Given the description of an element on the screen output the (x, y) to click on. 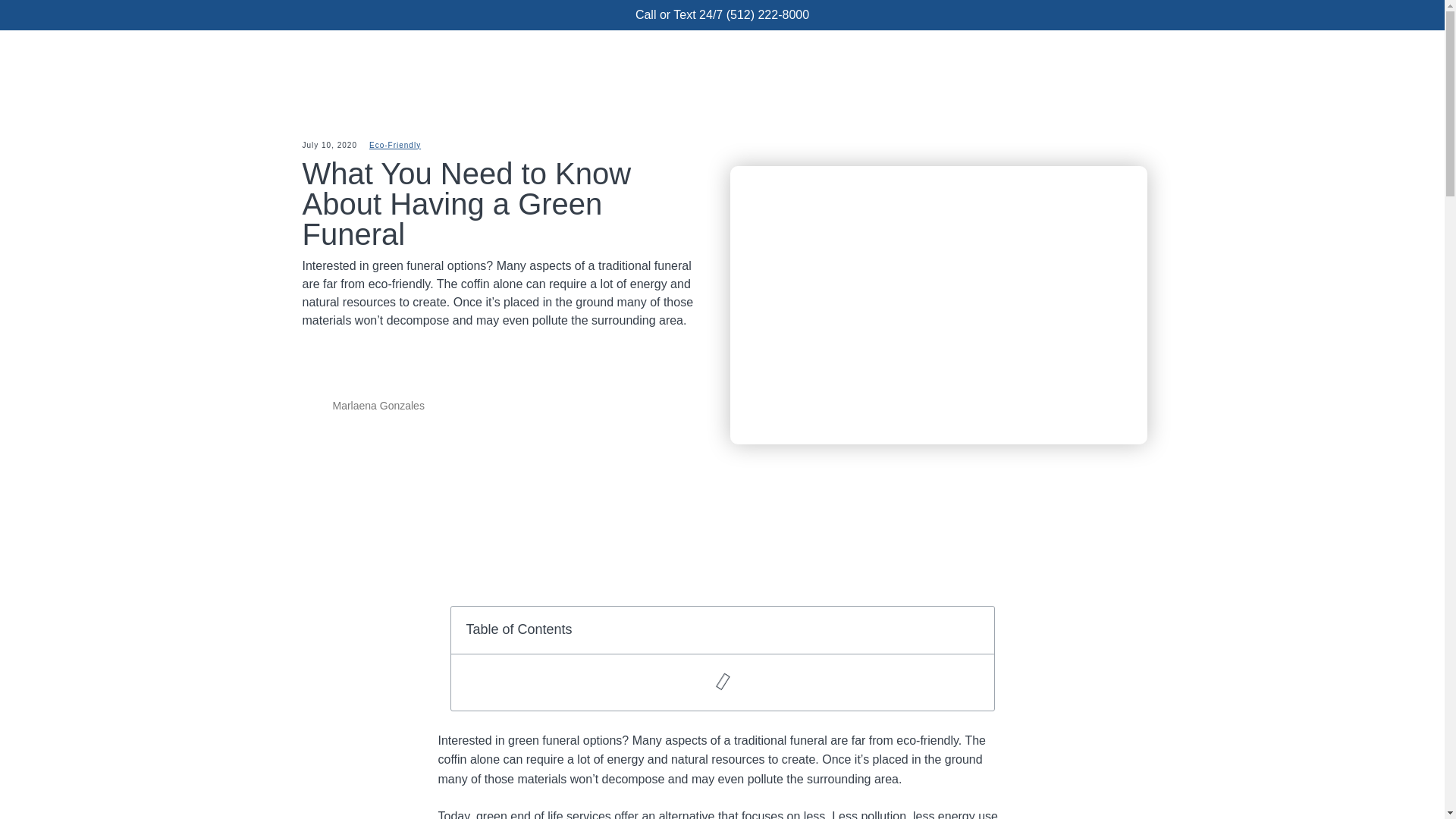
Eco-Friendly (394, 144)
